Given the description of an element on the screen output the (x, y) to click on. 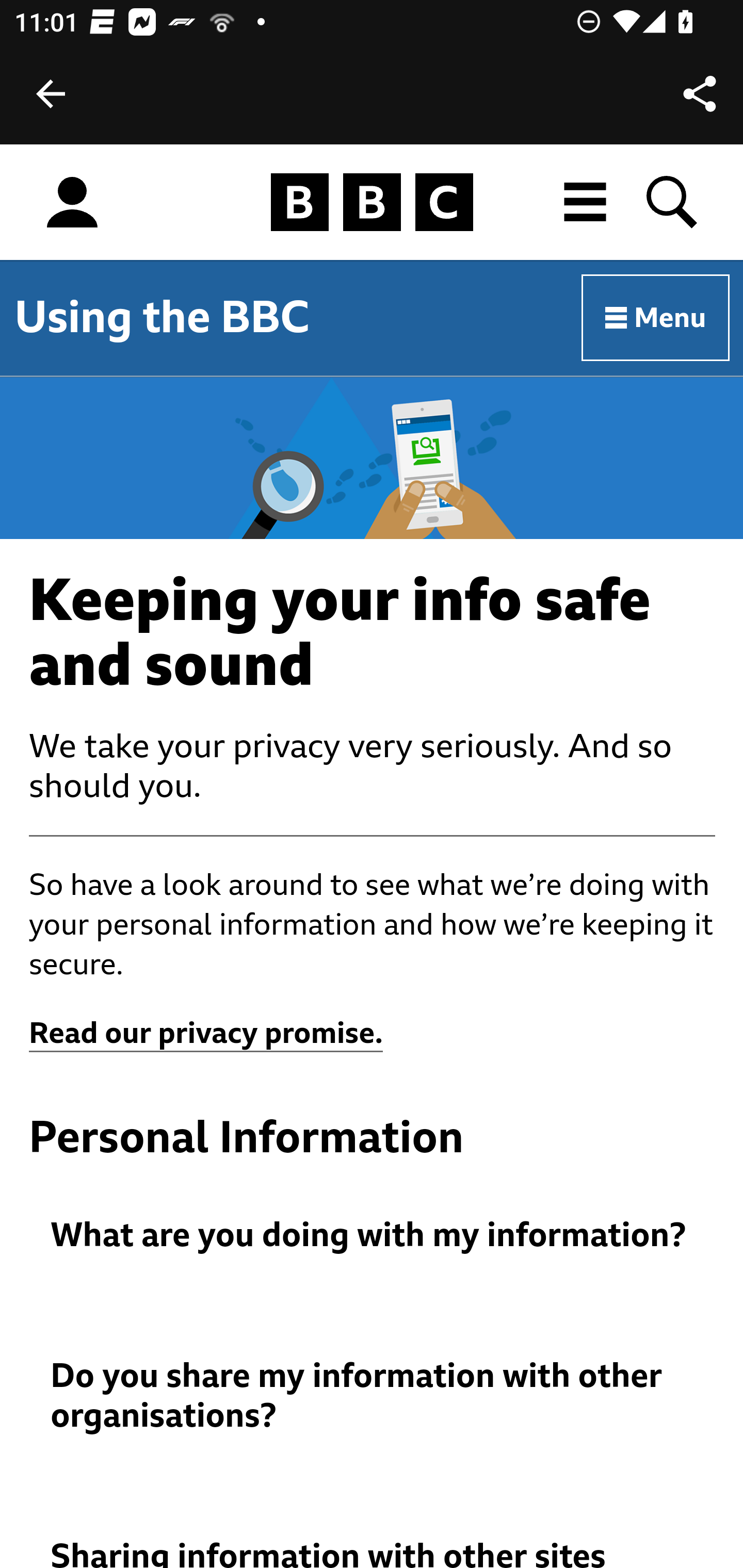
Back (50, 93)
Share (699, 93)
All BBC destinations menu (585, 202)
Search BBC (672, 202)
Sign in (71, 203)
Homepage (371, 203)
Menu (656, 318)
Using the BBC (162, 317)
Read our privacy promise. (206, 1034)
What are you doing with my information? (372, 1235)
Sharing information with other sites (372, 1552)
